Given the description of an element on the screen output the (x, y) to click on. 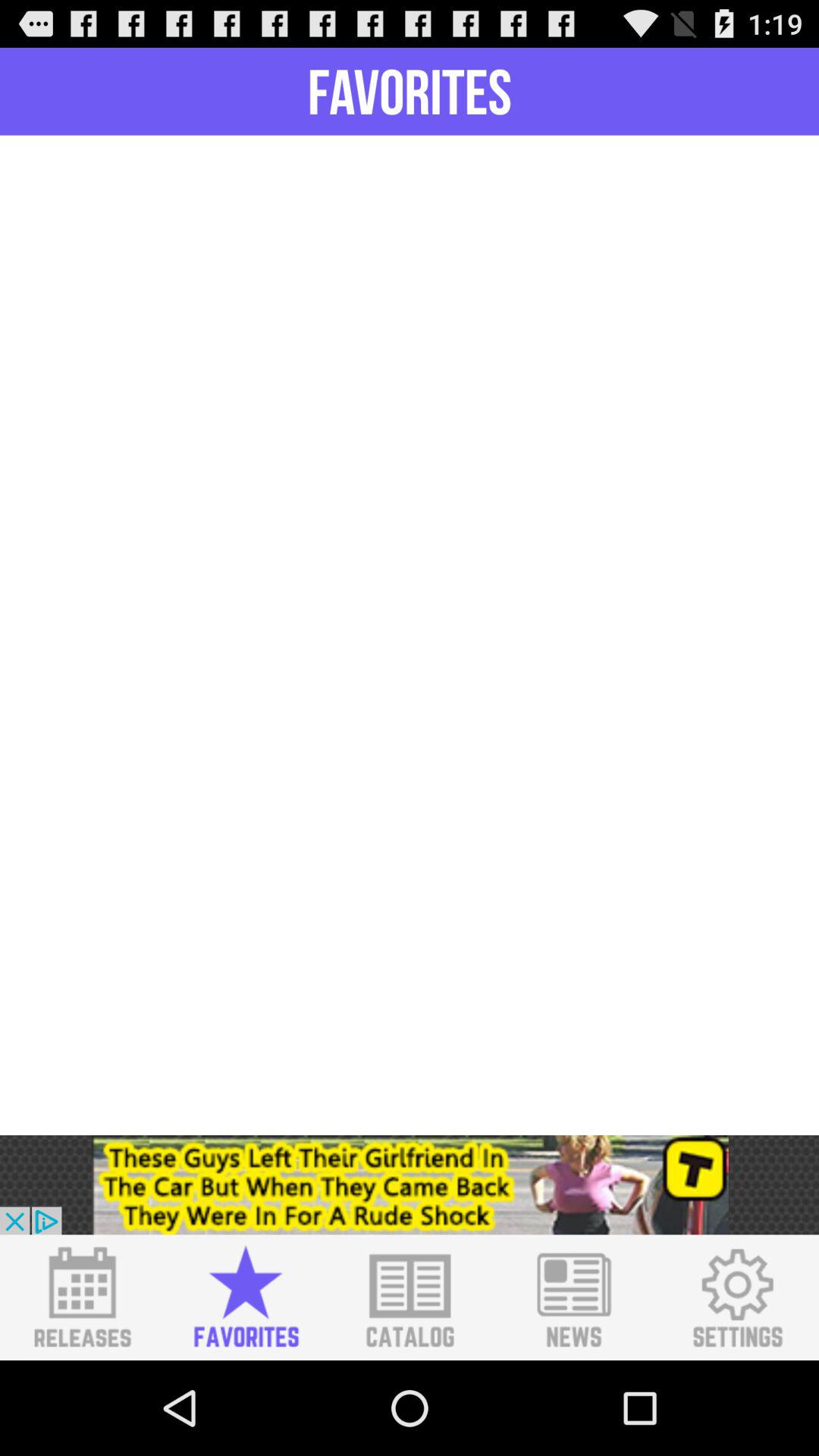
menu biutton (81, 1297)
